Given the description of an element on the screen output the (x, y) to click on. 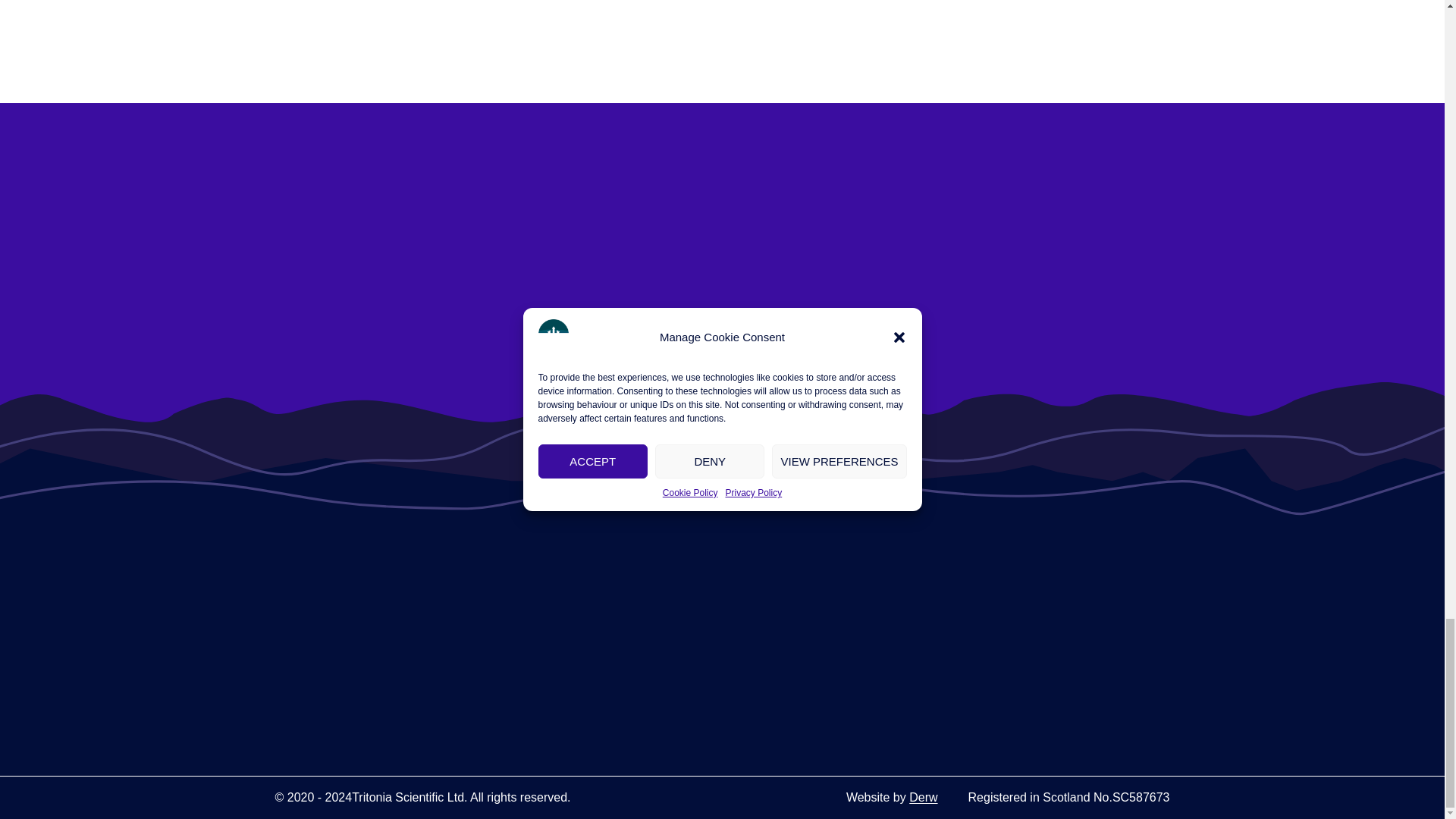
Derw (922, 797)
